Given the description of an element on the screen output the (x, y) to click on. 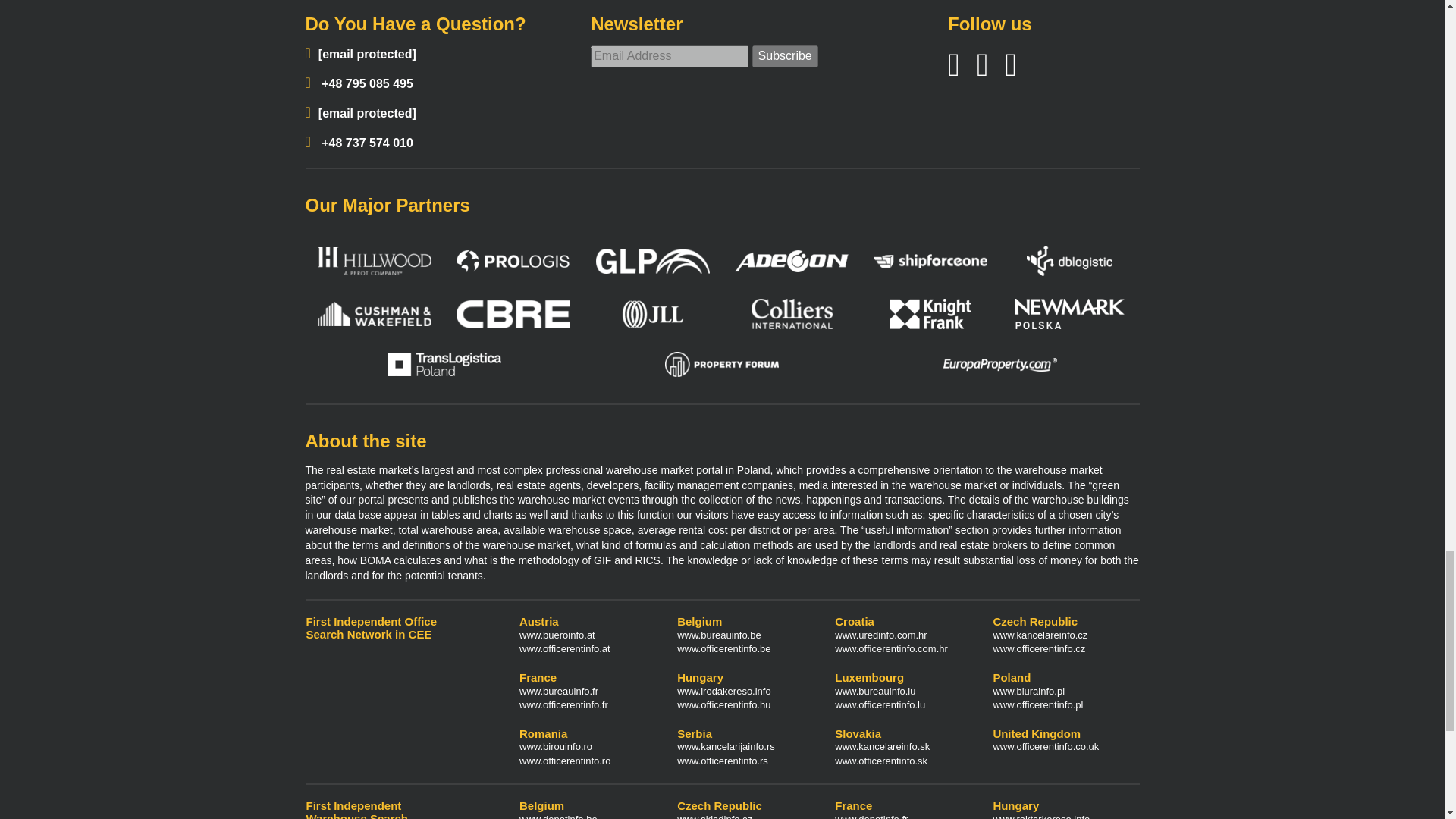
Subscribe (785, 56)
